Given the description of an element on the screen output the (x, y) to click on. 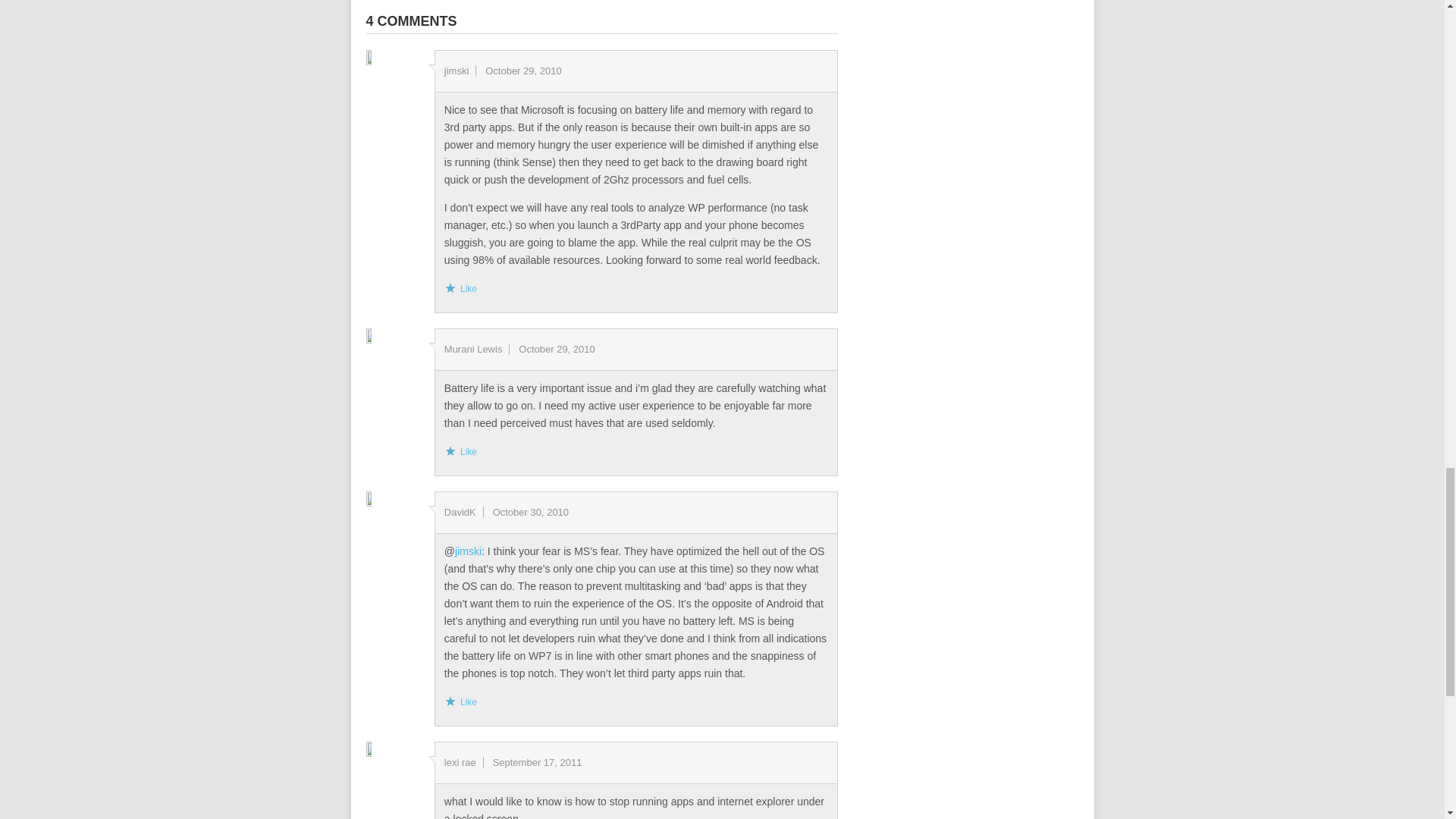
jimski (467, 551)
